Given the description of an element on the screen output the (x, y) to click on. 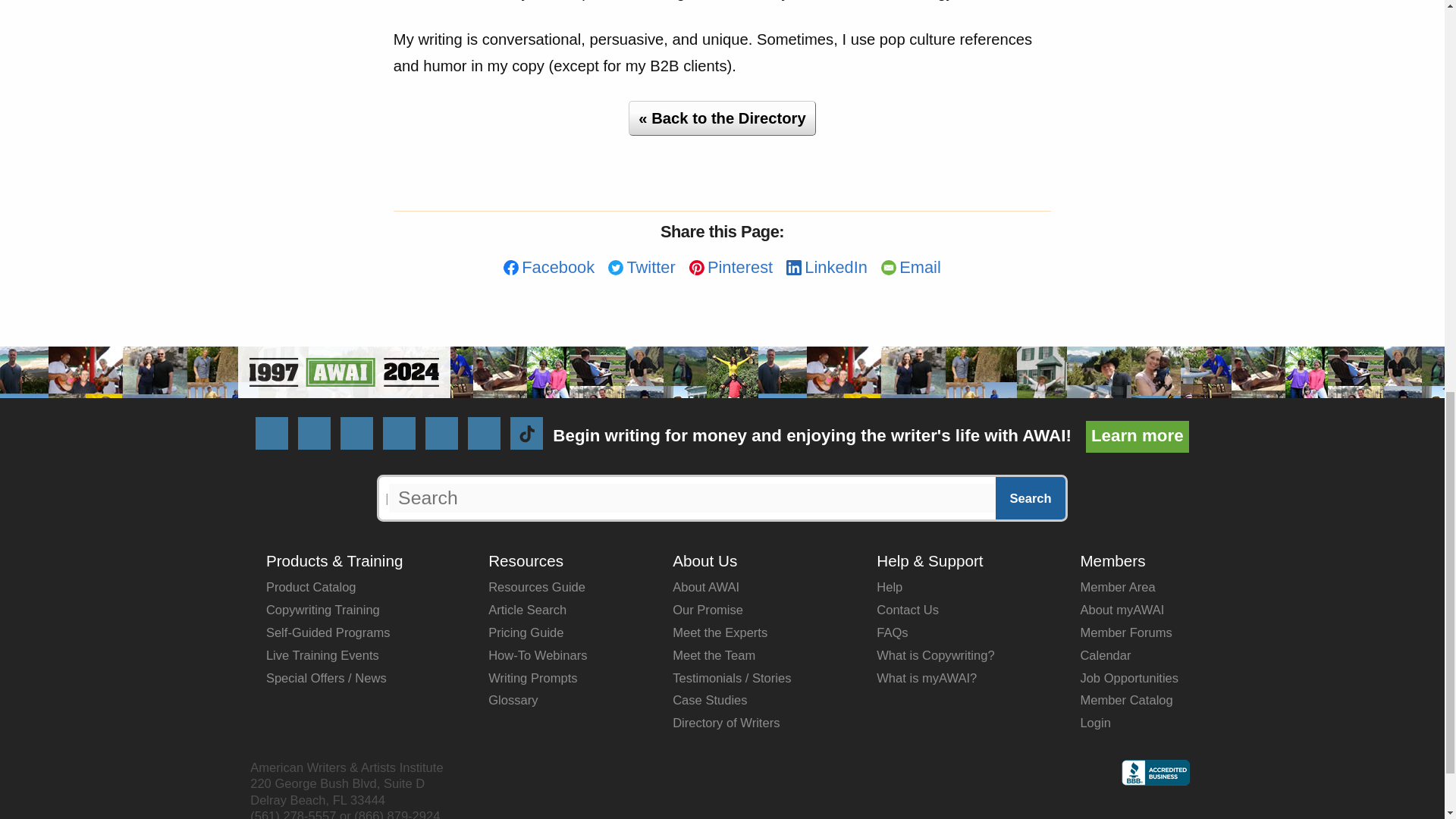
Better Business Bureau Accredited Business (1155, 772)
Better Business Bureau Accredited Business (1155, 780)
